Given the description of an element on the screen output the (x, y) to click on. 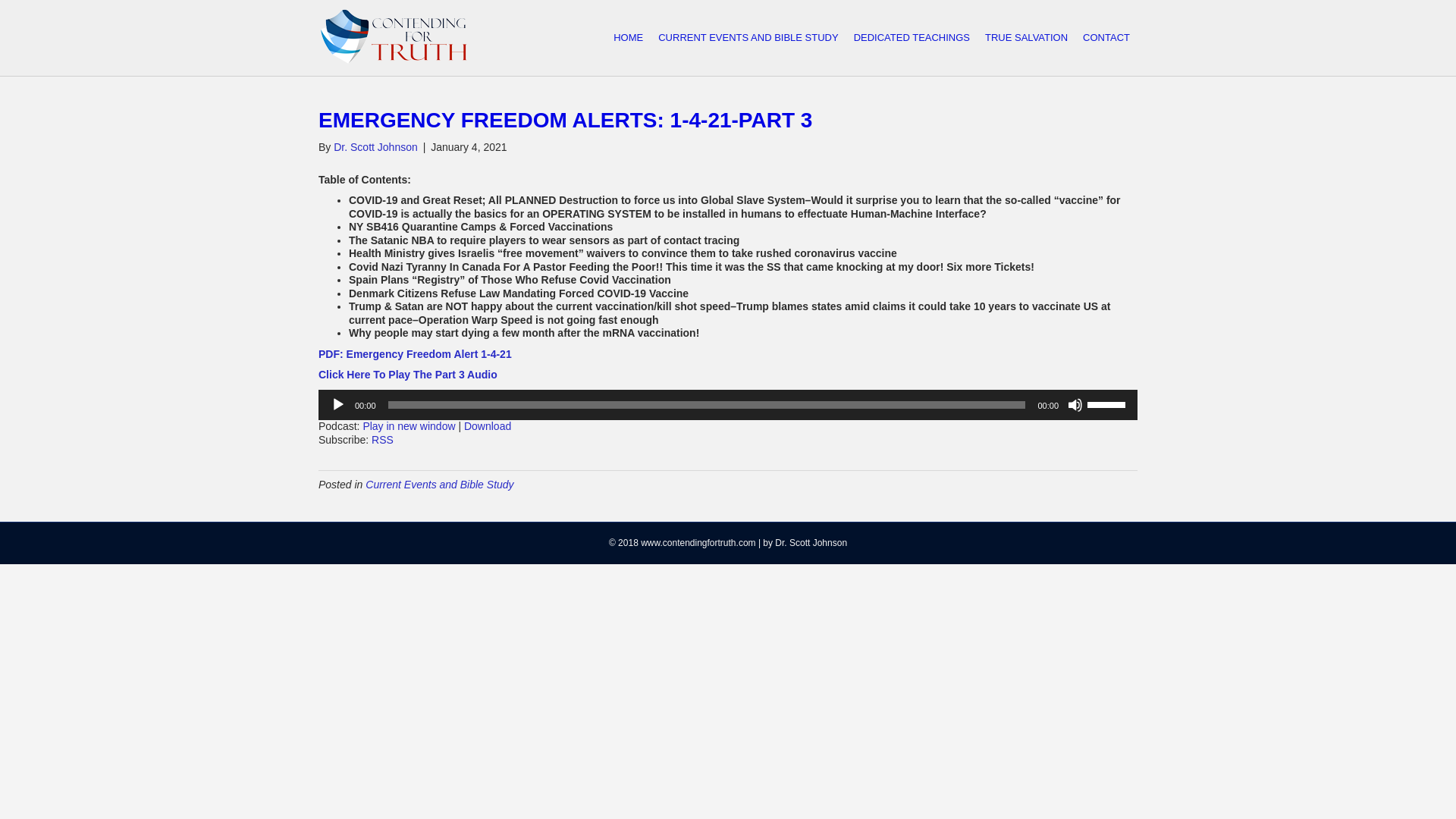
RSS (382, 439)
Current Events and Bible Study (439, 483)
Play in new window (408, 426)
Download (487, 426)
CURRENT EVENTS AND BIBLE STUDY (747, 37)
Play in new window (408, 426)
HOME (627, 37)
Click Here To Play The Part 3 Audio (407, 374)
Dr. Scott Johnson (375, 146)
CONTACT (1106, 37)
DEDICATED TEACHINGS (910, 37)
TRUE SALVATION (1025, 37)
PDF: Emergency Freedom Alert 1-4-21 (415, 353)
Play (338, 404)
Subscribe via RSS (382, 439)
